Given the description of an element on the screen output the (x, y) to click on. 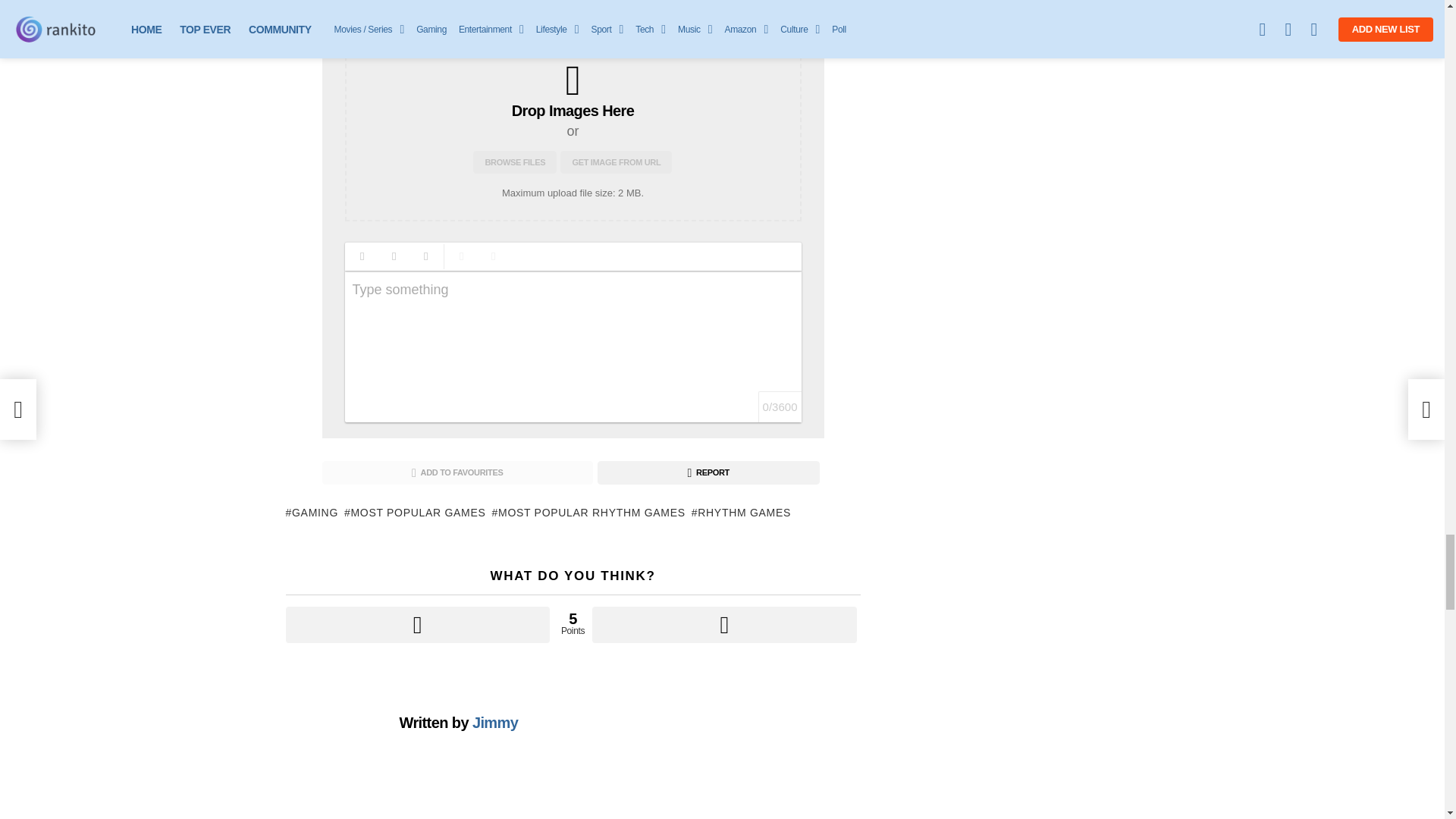
Get image from URL (615, 161)
Browse files (514, 161)
